Given the description of an element on the screen output the (x, y) to click on. 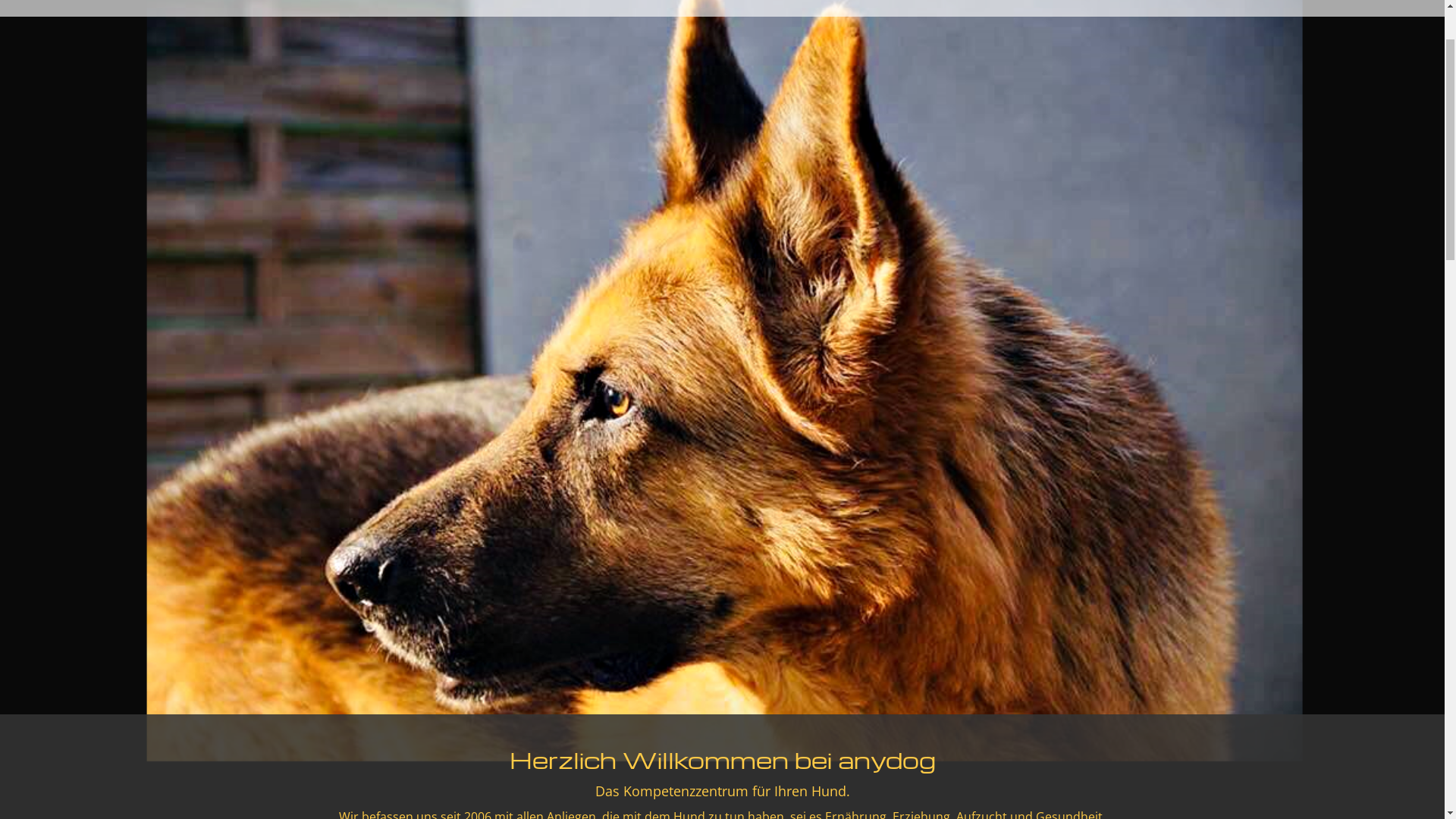
Ausbildung/Kurs Element type: text (579, 31)
Team Element type: text (288, 31)
Hundehotel Element type: text (357, 31)
Hundewellness Element type: text (459, 31)
